Given the description of an element on the screen output the (x, y) to click on. 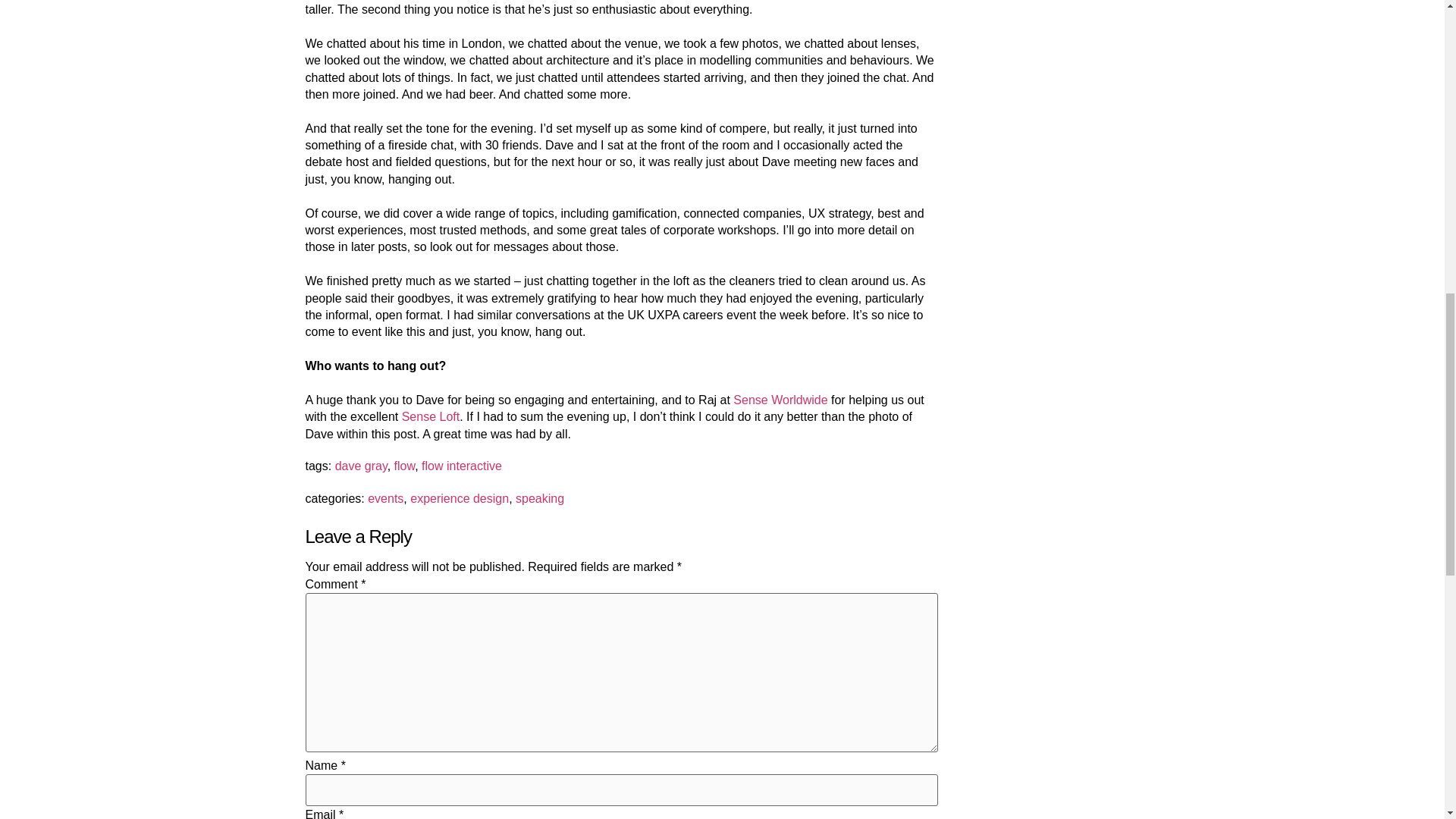
dave gray (360, 465)
events (385, 498)
experience design (459, 498)
Sense Loft (430, 416)
Sense Worldwide (780, 399)
flow interactive (462, 465)
flow (404, 465)
speaking (539, 498)
